Given the description of an element on the screen output the (x, y) to click on. 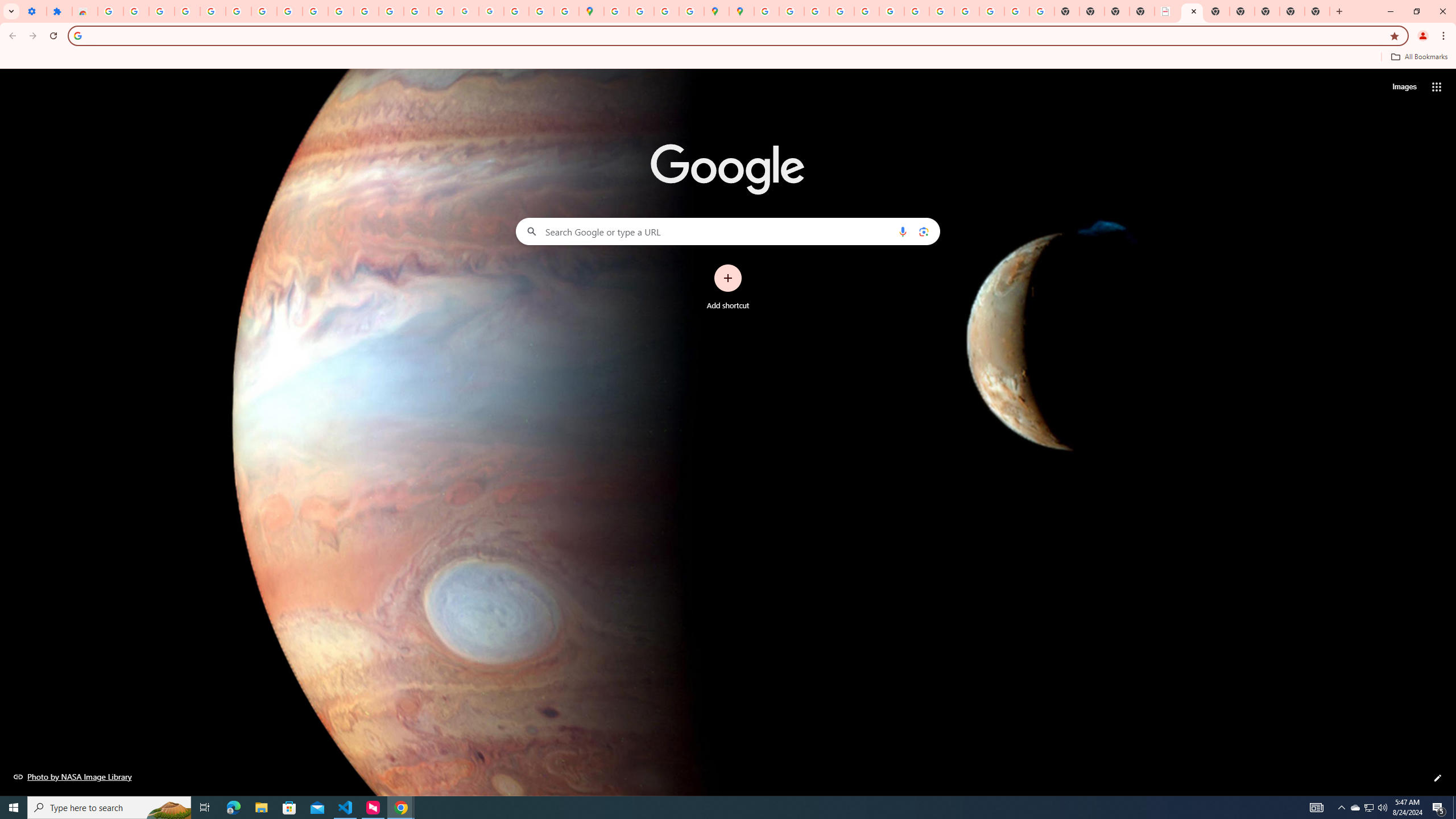
YouTube (916, 11)
Google Maps (590, 11)
New Tab (1266, 11)
Photo by NASA Image Library (72, 776)
Search Google or type a URL (727, 230)
